Given the description of an element on the screen output the (x, y) to click on. 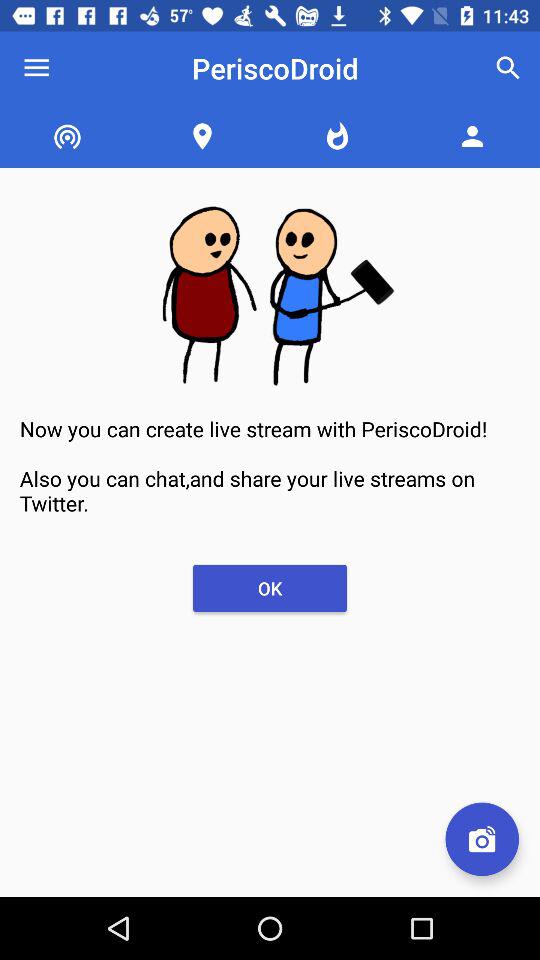
press item below now you can icon (269, 587)
